Given the description of an element on the screen output the (x, y) to click on. 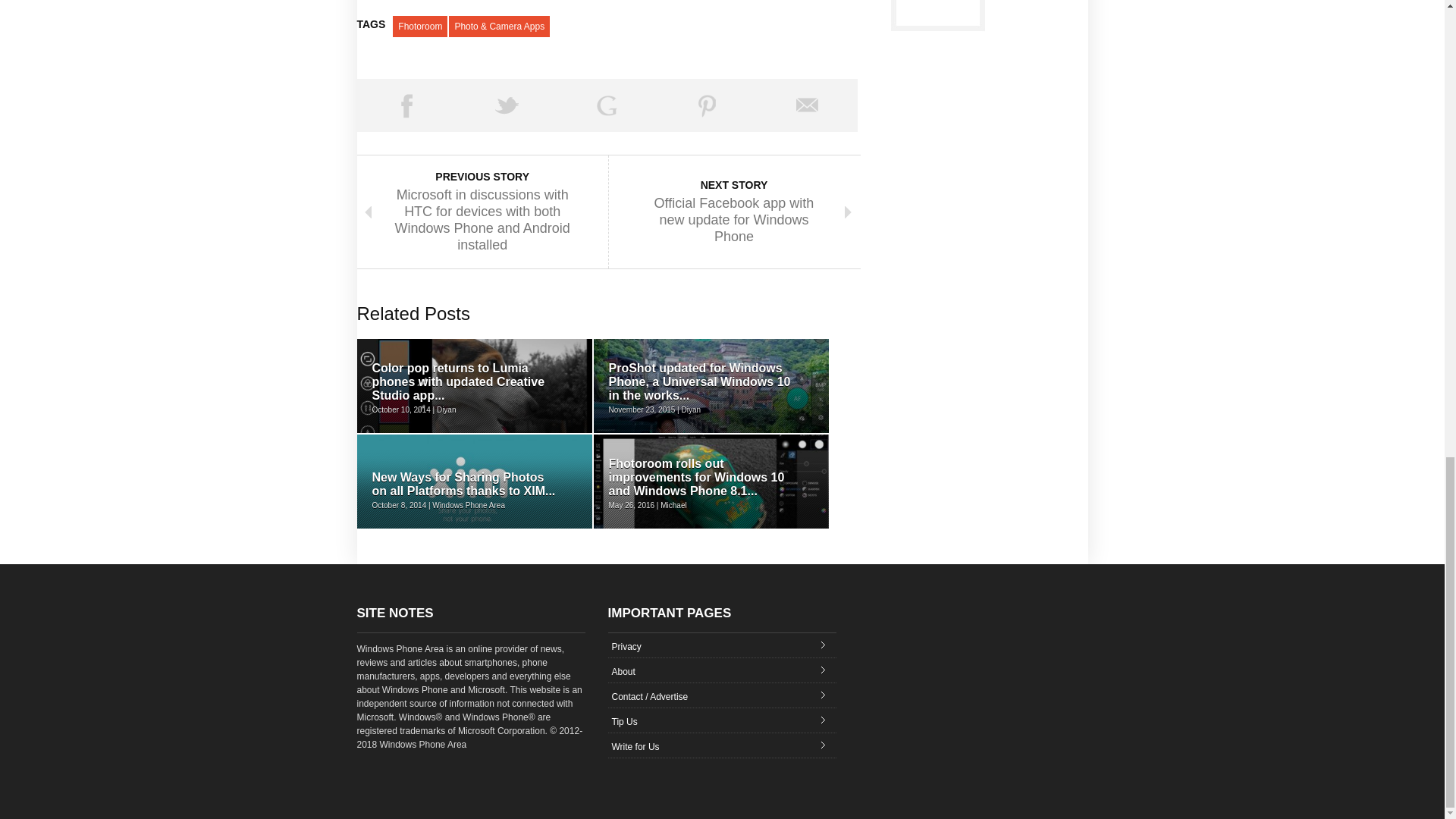
Fhotoroom (419, 25)
Pin This (707, 104)
Share on Facebook (406, 104)
Tweet This (507, 104)
Email This (807, 104)
Share on Google Plus (607, 104)
